Given the description of an element on the screen output the (x, y) to click on. 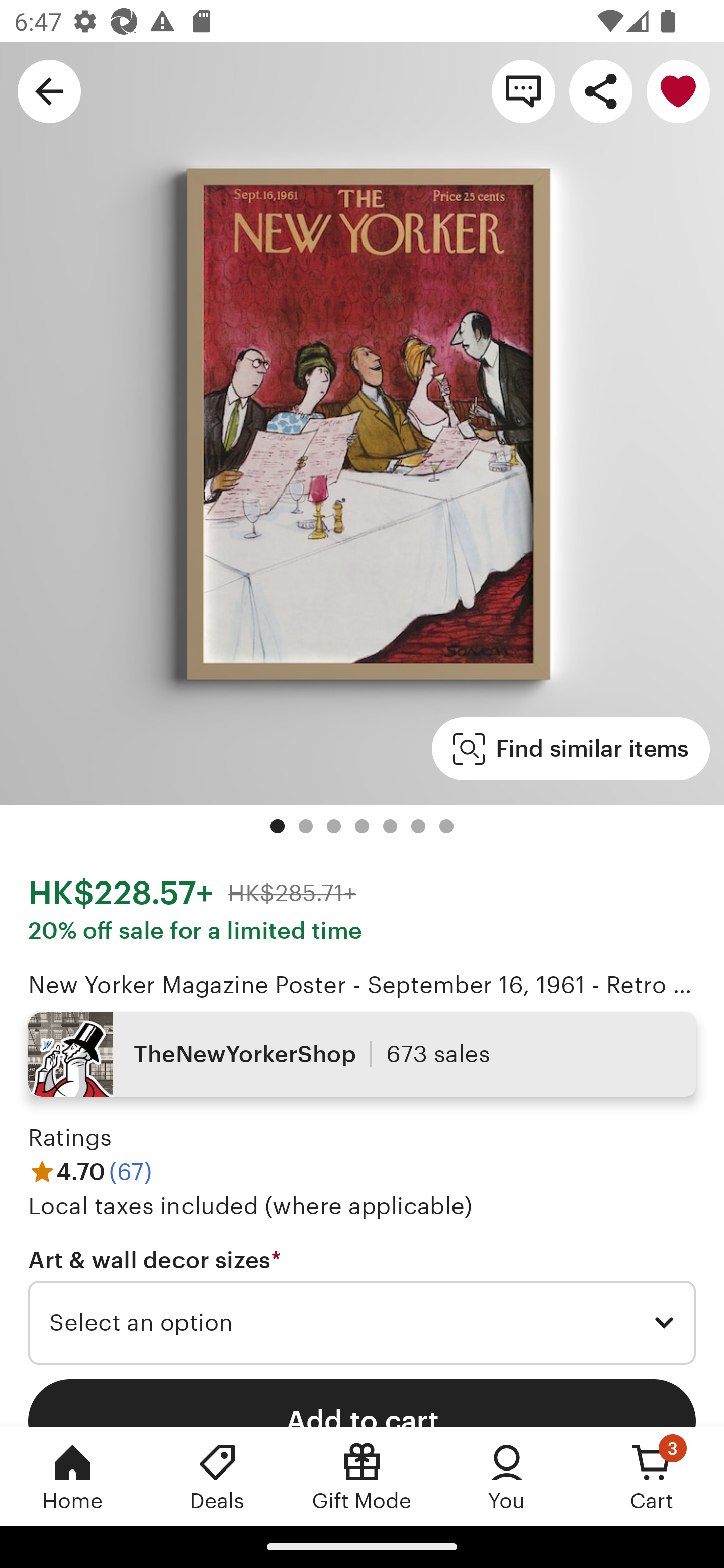
Navigate up (49, 90)
Contact shop (523, 90)
Share (600, 90)
Find similar items (571, 748)
TheNewYorkerShop 673 sales (361, 1054)
Ratings (70, 1137)
4.70 (67) (90, 1171)
Art & wall decor sizes * Required Select an option (361, 1306)
Select an option (361, 1323)
Deals (216, 1475)
Gift Mode (361, 1475)
You (506, 1475)
Cart, 3 new notifications Cart (651, 1475)
